Given the description of an element on the screen output the (x, y) to click on. 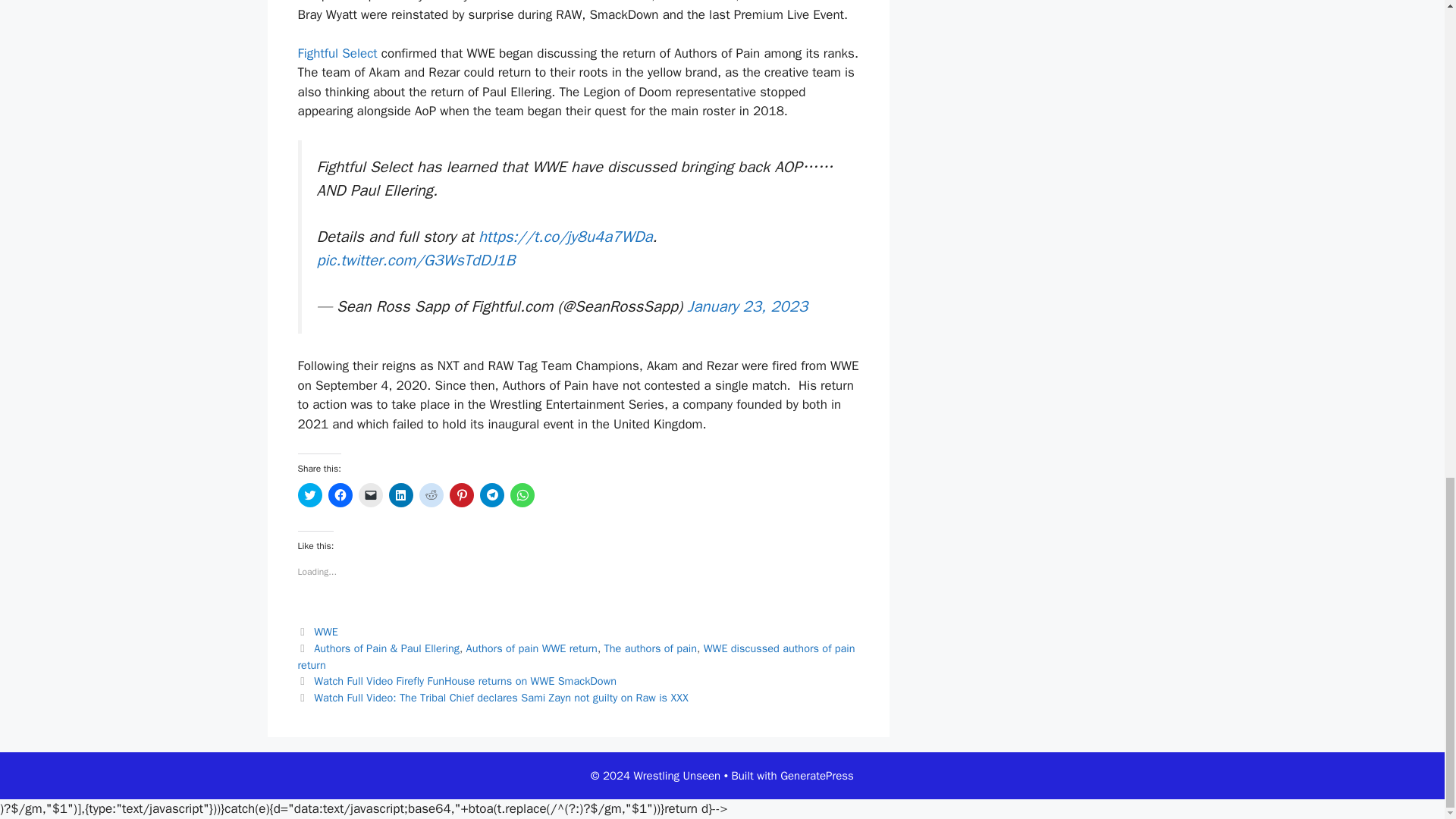
Authors of pain WWE return (530, 648)
WWE (325, 631)
January 23, 2023 (747, 306)
Click to email a link to a friend (369, 494)
GeneratePress (816, 775)
The authors of pain (650, 648)
Watch Full Video Firefly FunHouse returns on WWE SmackDown (464, 680)
Click to share on LinkedIn (400, 494)
Click to share on Twitter (309, 494)
Click to share on Pinterest (460, 494)
Click to share on WhatsApp (521, 494)
Click to share on Facebook (339, 494)
Click to share on Reddit (430, 494)
Fightful Select (337, 53)
